Given the description of an element on the screen output the (x, y) to click on. 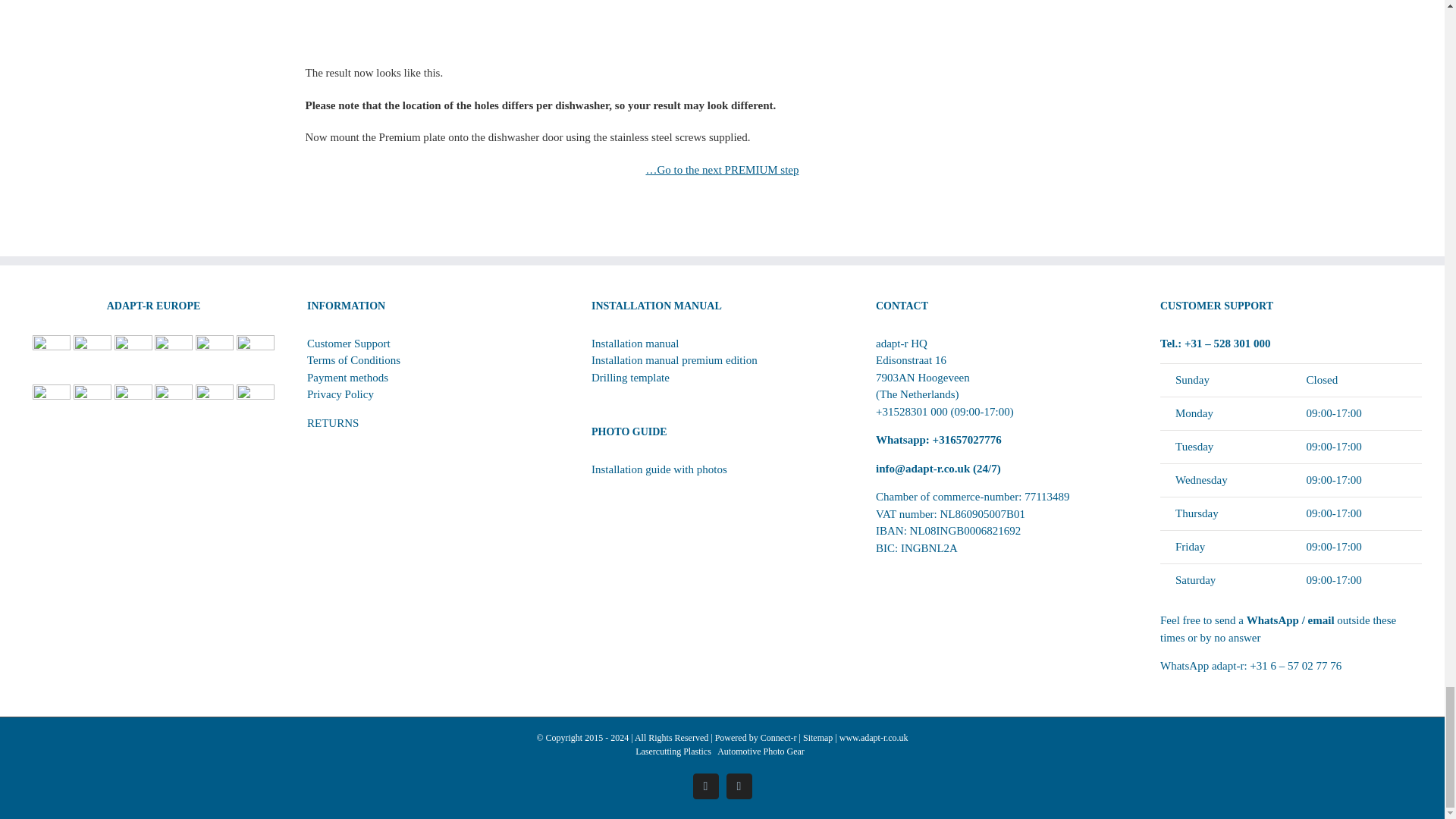
Facebook (706, 786)
YouTube (739, 786)
